Given the description of an element on the screen output the (x, y) to click on. 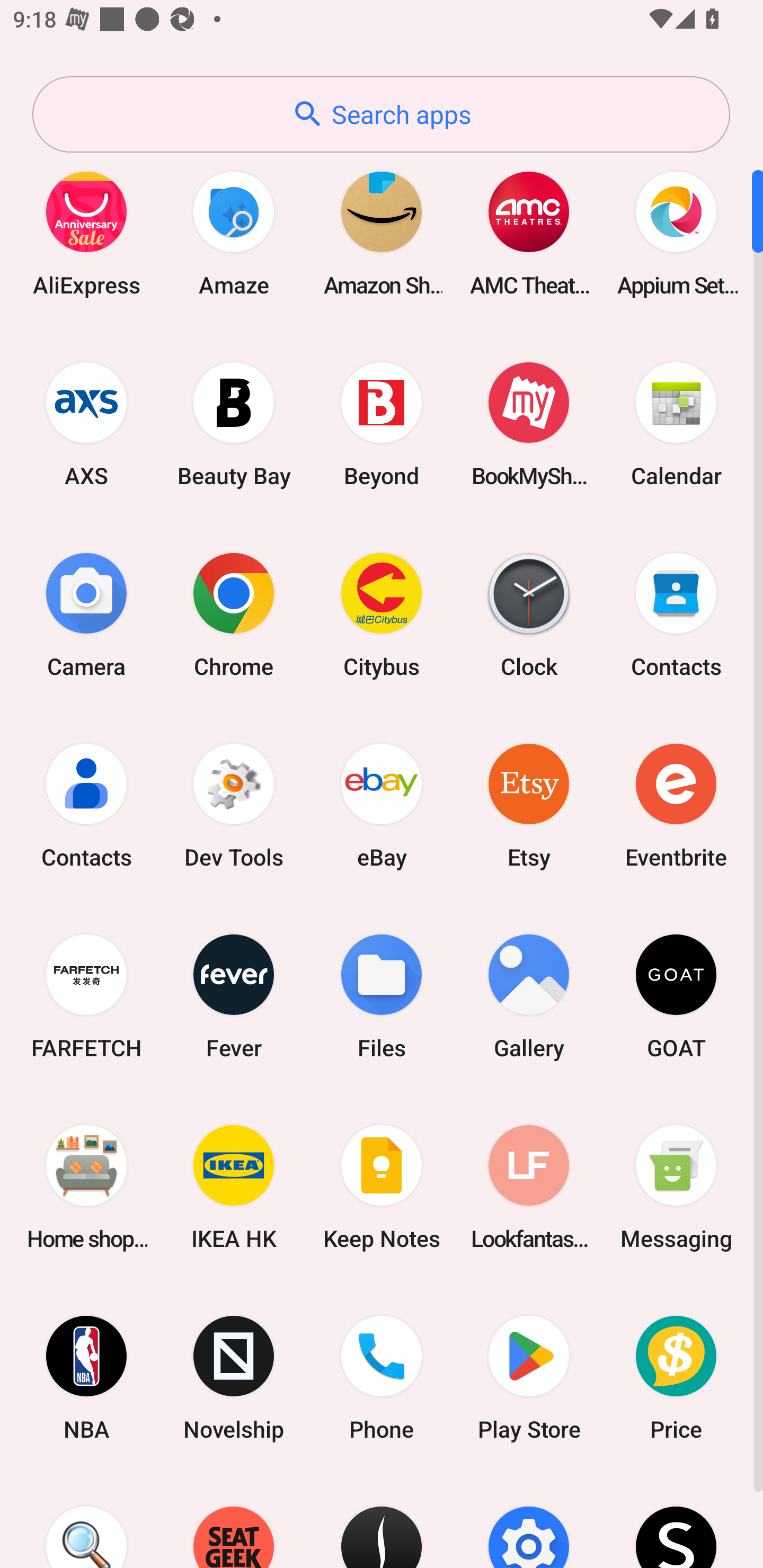
  Search apps (381, 114)
AliExpress (86, 233)
Amaze (233, 233)
Amazon Shopping (381, 233)
AMC Theatres (528, 233)
Appium Settings (676, 233)
AXS (86, 424)
Beauty Bay (233, 424)
Beyond (381, 424)
BookMyShow (528, 424)
Calendar (676, 424)
Camera (86, 614)
Chrome (233, 614)
Citybus (381, 614)
Clock (528, 614)
Contacts (676, 614)
Contacts (86, 805)
Dev Tools (233, 805)
eBay (381, 805)
Etsy (528, 805)
Eventbrite (676, 805)
FARFETCH (86, 996)
Fever (233, 996)
Files (381, 996)
Gallery (528, 996)
GOAT (676, 996)
Home shopping (86, 1186)
IKEA HK (233, 1186)
Keep Notes (381, 1186)
Lookfantastic (528, 1186)
Messaging (676, 1186)
NBA (86, 1377)
Novelship (233, 1377)
Phone (381, 1377)
Play Store (528, 1377)
Price (676, 1377)
